Given the description of an element on the screen output the (x, y) to click on. 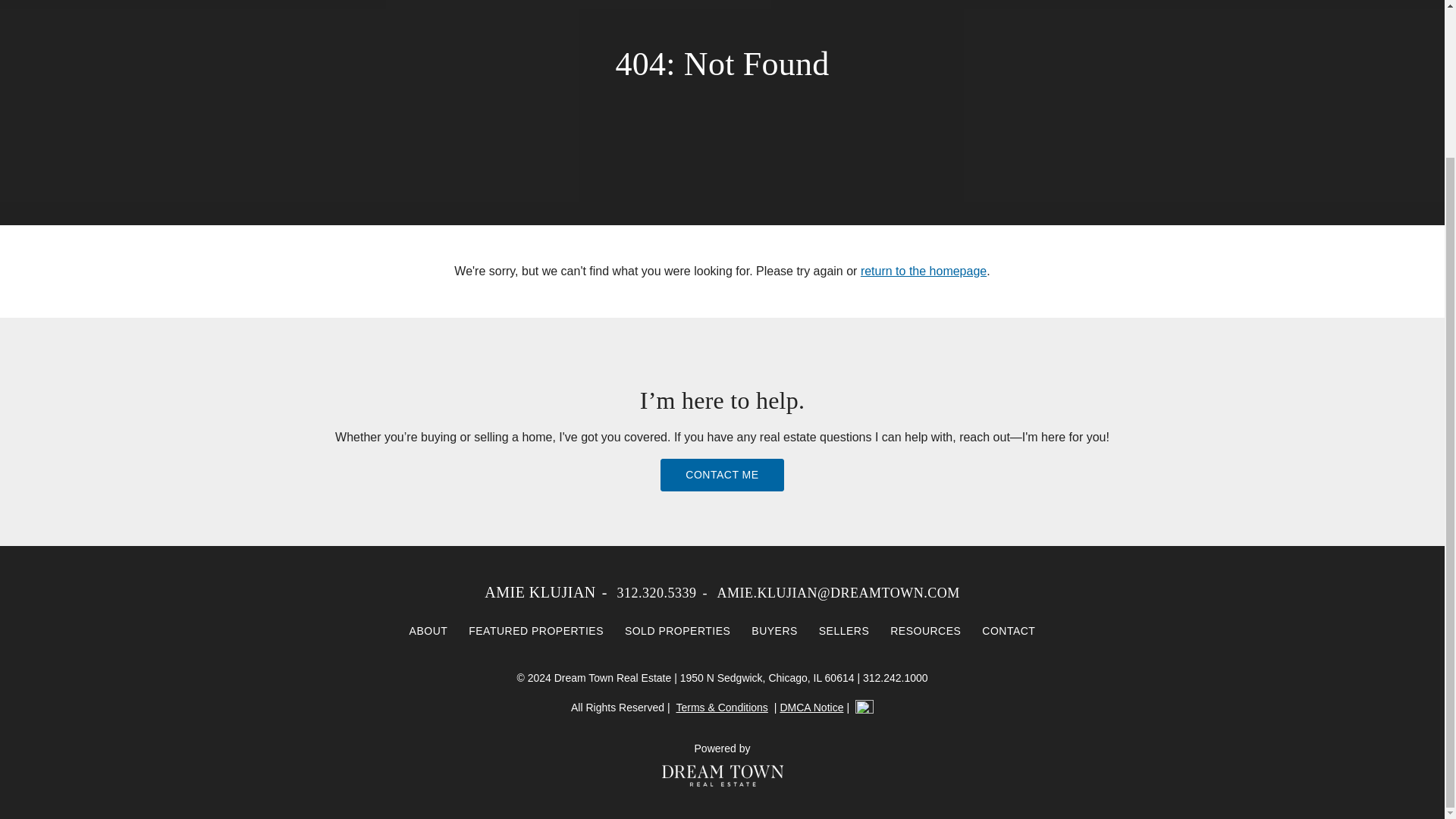
RESOURCES (924, 630)
Dream Town Real Estate (722, 774)
SOLD PROPERTIES (677, 630)
return to the homepage (923, 270)
AMIE KLUJIAN (539, 591)
CONTACT ME (722, 474)
SELLERS (844, 630)
BUYERS (774, 630)
FEATURED PROPERTIES (536, 630)
ABOUT (428, 630)
312.242.1000 (895, 677)
CONTACT (1007, 630)
312.320.5339 (655, 592)
